Given the description of an element on the screen output the (x, y) to click on. 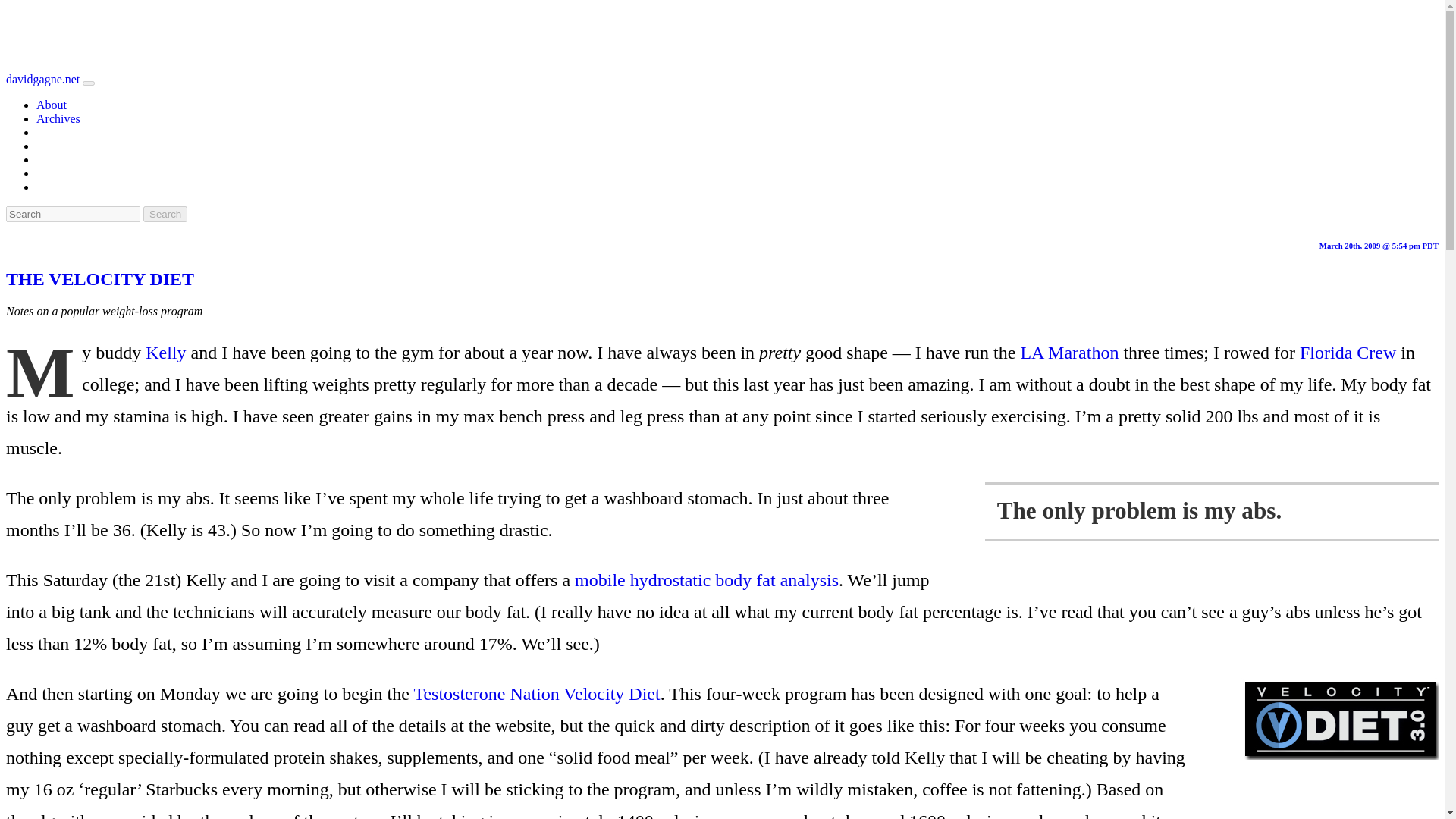
Testosterone Nation (486, 693)
ultra diet (611, 693)
rowing is even cooler (1348, 352)
Florida Crew (1348, 352)
Kelly (165, 352)
Thousands of Old Posts (58, 118)
All About Me (51, 104)
Search (164, 213)
Workouts for Men (486, 693)
Archives (58, 118)
Kelly Bakst (165, 352)
Velocity Diet (611, 693)
Get Dunked! (706, 579)
THE VELOCITY DIET (99, 279)
LA Marathon (1069, 352)
